Given the description of an element on the screen output the (x, y) to click on. 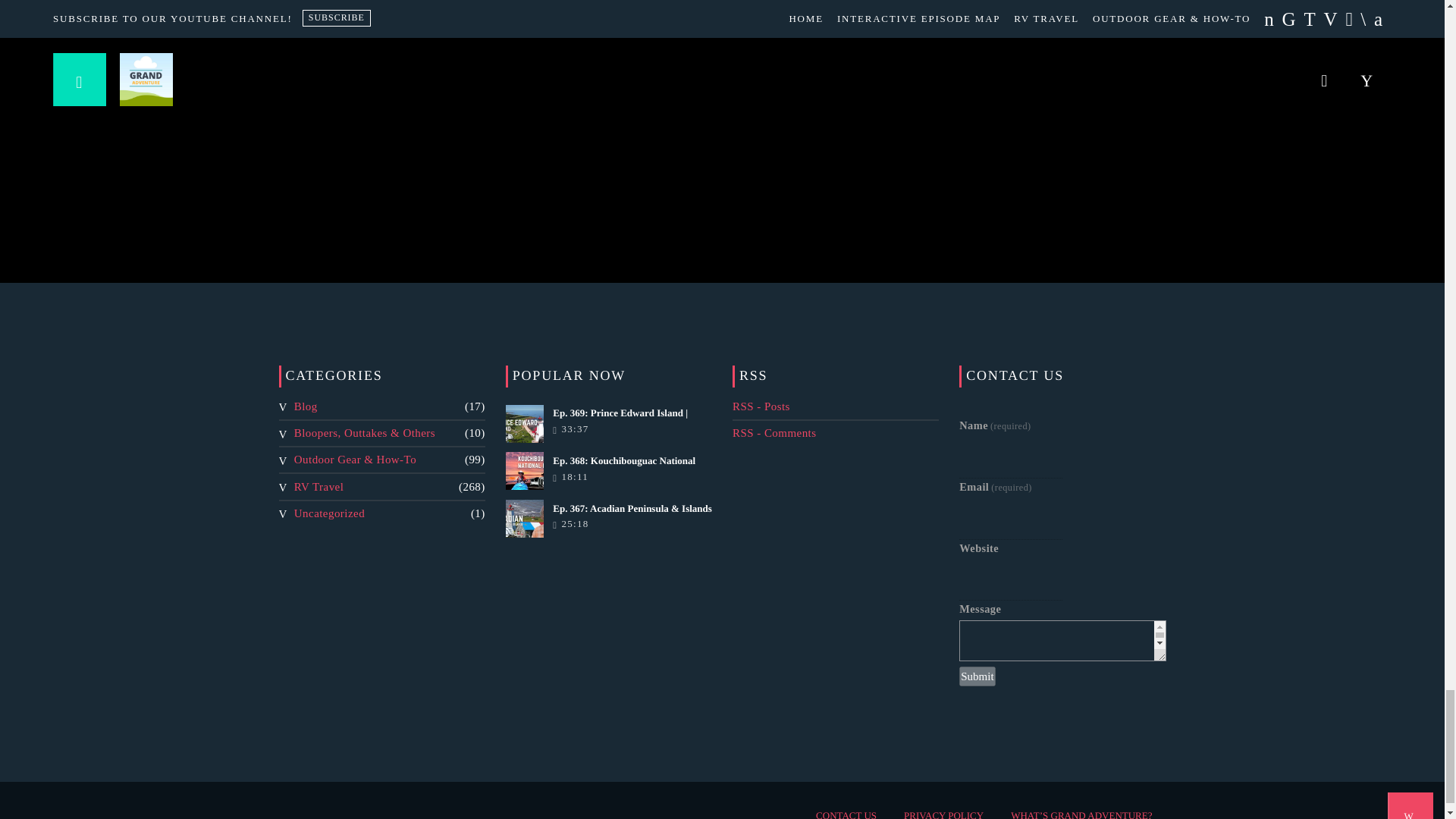
Subscribe to comments (774, 432)
Subscribe to posts (761, 406)
